Given the description of an element on the screen output the (x, y) to click on. 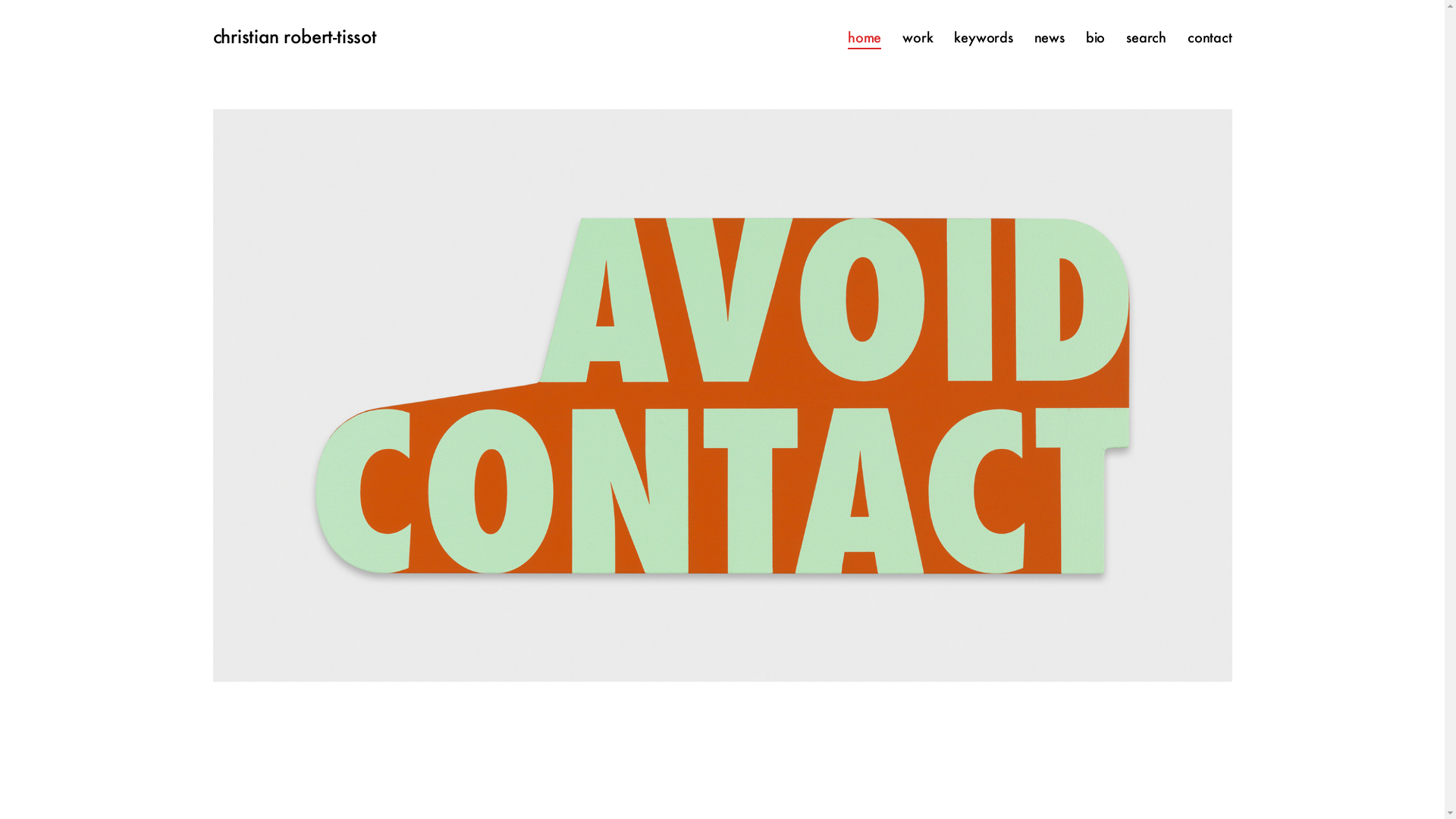
bio Element type: text (1094, 37)
contact Element type: text (1209, 37)
news Element type: text (1049, 37)
keywords Element type: text (982, 37)
christian robert-tissot Element type: text (294, 37)
home Element type: text (864, 37)
search Element type: text (1146, 37)
work Element type: text (917, 37)
